Given the description of an element on the screen output the (x, y) to click on. 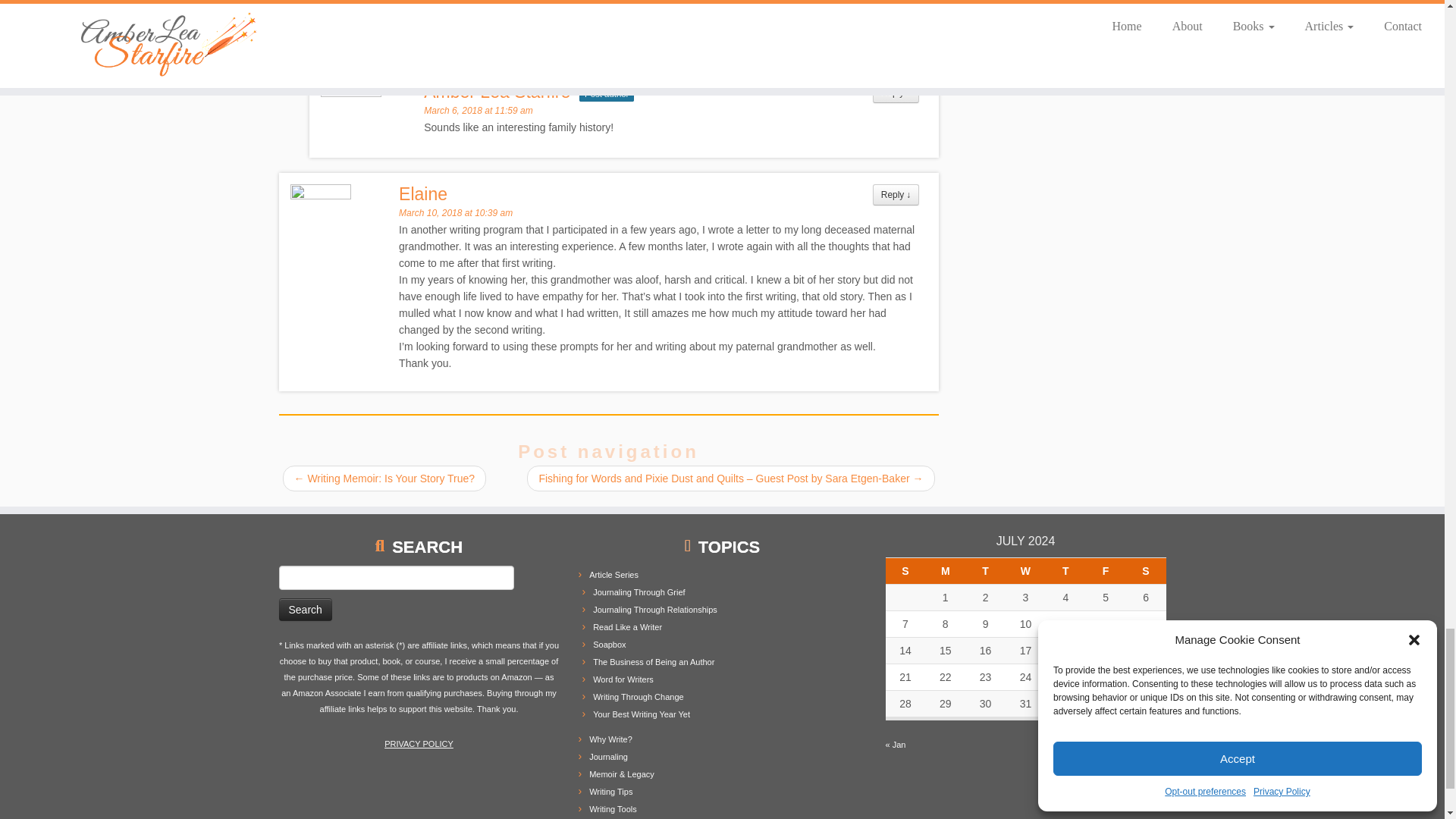
Search (305, 609)
Sunday (905, 570)
Tuesday (985, 570)
Saturday (1145, 570)
Friday (1105, 570)
Thursday (1065, 570)
Monday (944, 570)
Wednesday (1025, 570)
